Given the description of an element on the screen output the (x, y) to click on. 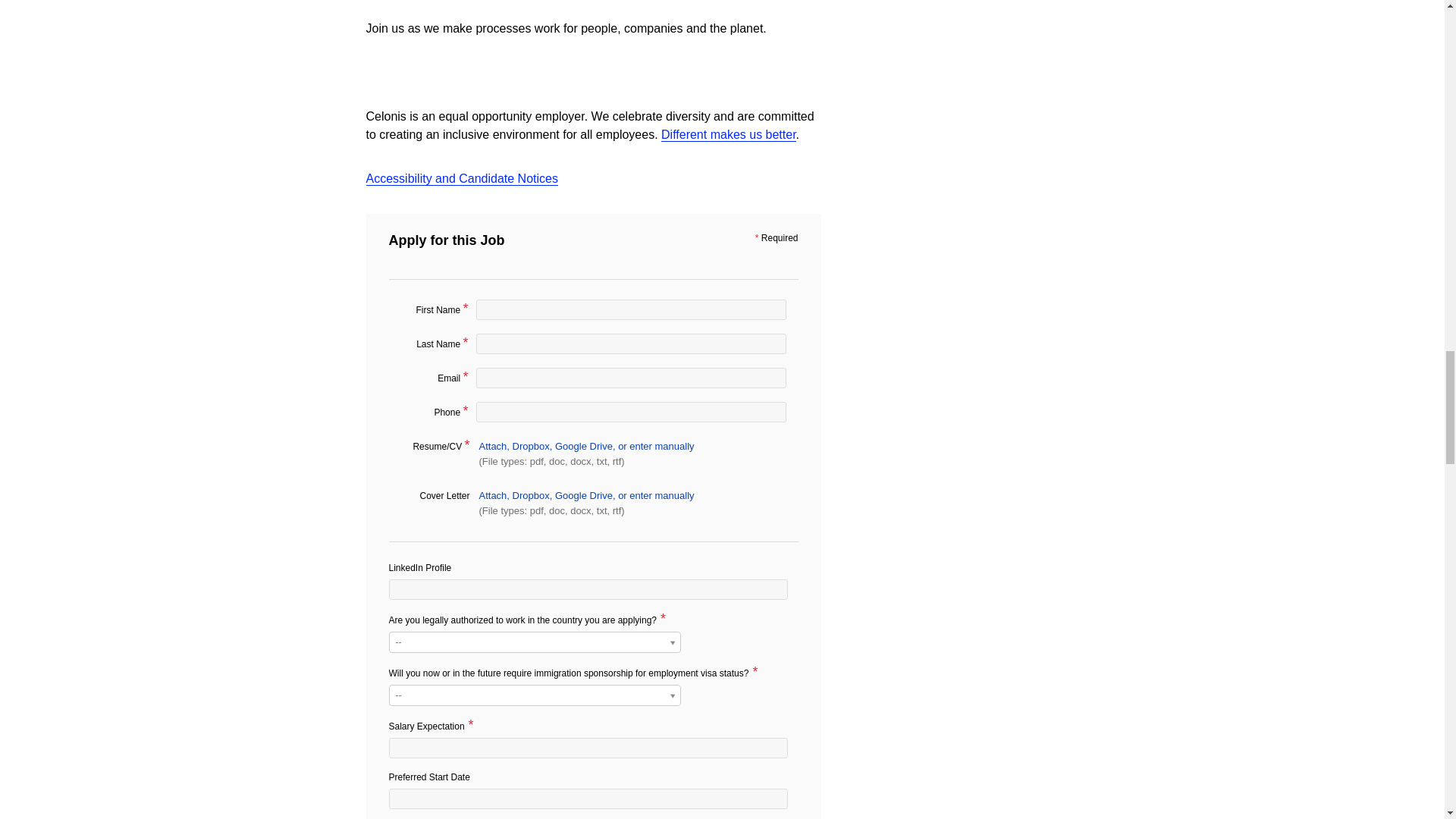
Attach (494, 495)
Google Drive (584, 446)
Dropbox (532, 446)
Accessibility and Candidate Notices (461, 178)
-- (533, 694)
Dropbox (532, 495)
Google Drive (584, 495)
Different makes us better (728, 133)
or enter manually (655, 446)
or enter manually (655, 495)
